Given the description of an element on the screen output the (x, y) to click on. 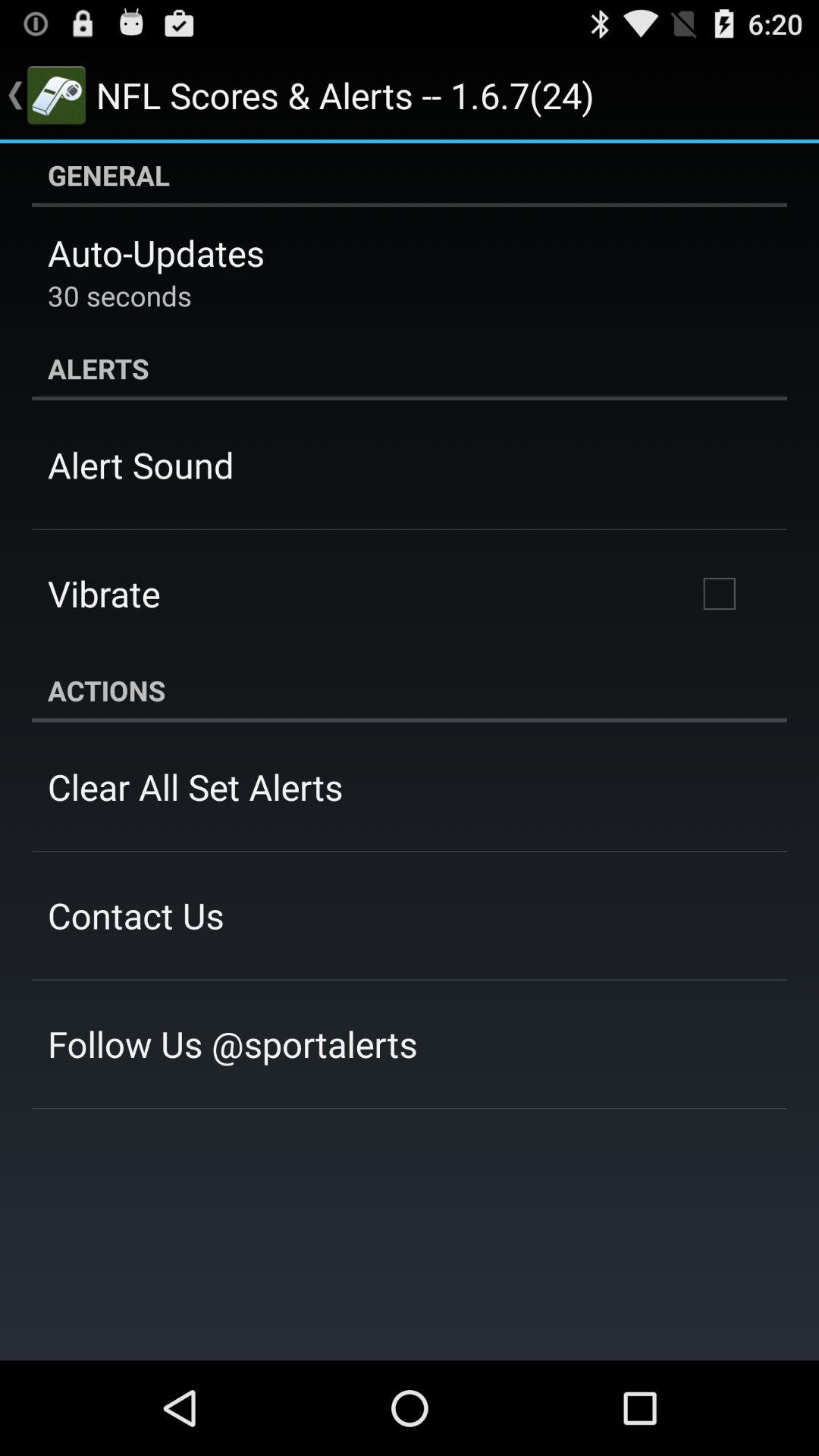
press the item below the auto-updates (119, 295)
